Given the description of an element on the screen output the (x, y) to click on. 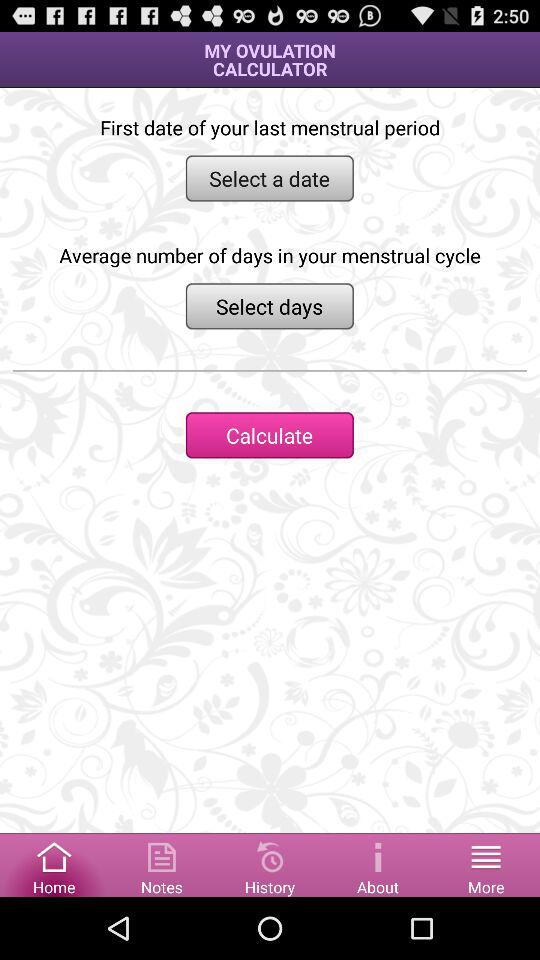
show more options (486, 864)
